Given the description of an element on the screen output the (x, y) to click on. 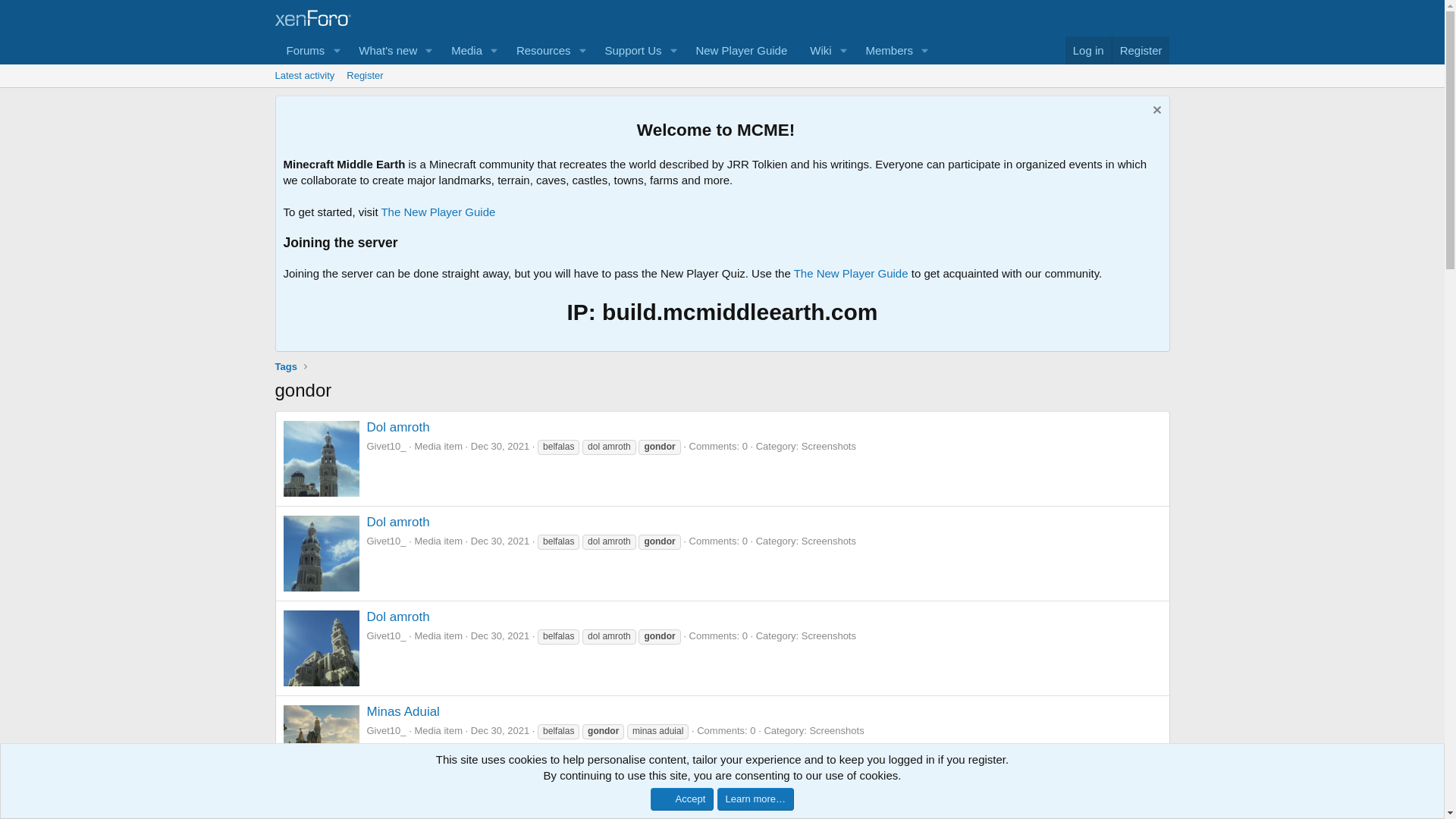
Dec 30, 2021 at 10:33 AM (499, 730)
Forums (300, 50)
Support Us (720, 92)
Dec 30, 2021 at 10:33 AM (627, 50)
Latest activity (499, 446)
Resources (303, 75)
Log in (538, 50)
Wiki (1088, 50)
Dec 30, 2021 at 10:33 AM (814, 50)
Media (499, 635)
New Player Guide (461, 50)
Members (740, 50)
